Given the description of an element on the screen output the (x, y) to click on. 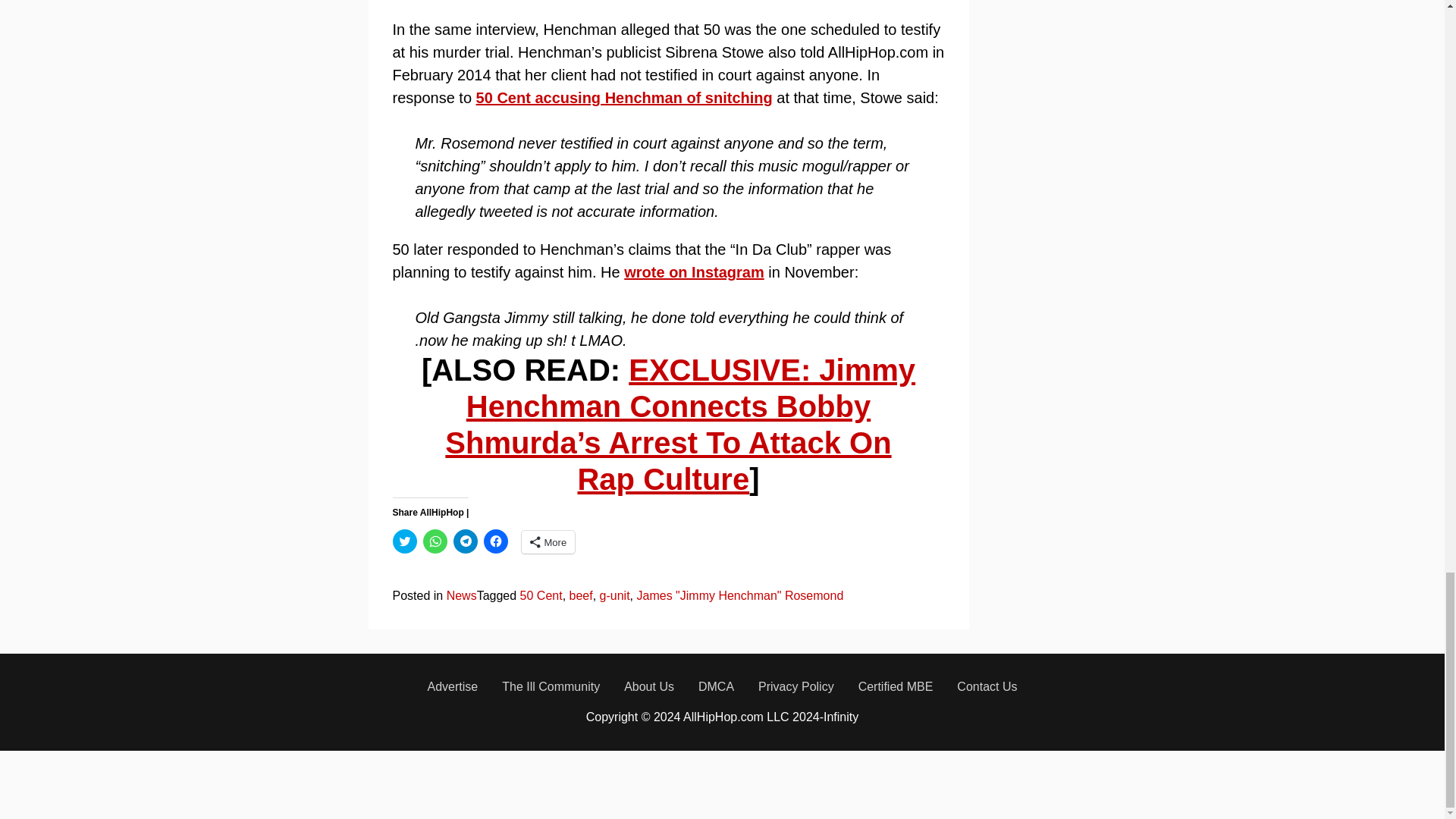
Click to share on Telegram (464, 541)
Click to share on Facebook (495, 541)
Click to share on Twitter (404, 541)
Click to share on WhatsApp (434, 541)
